Given the description of an element on the screen output the (x, y) to click on. 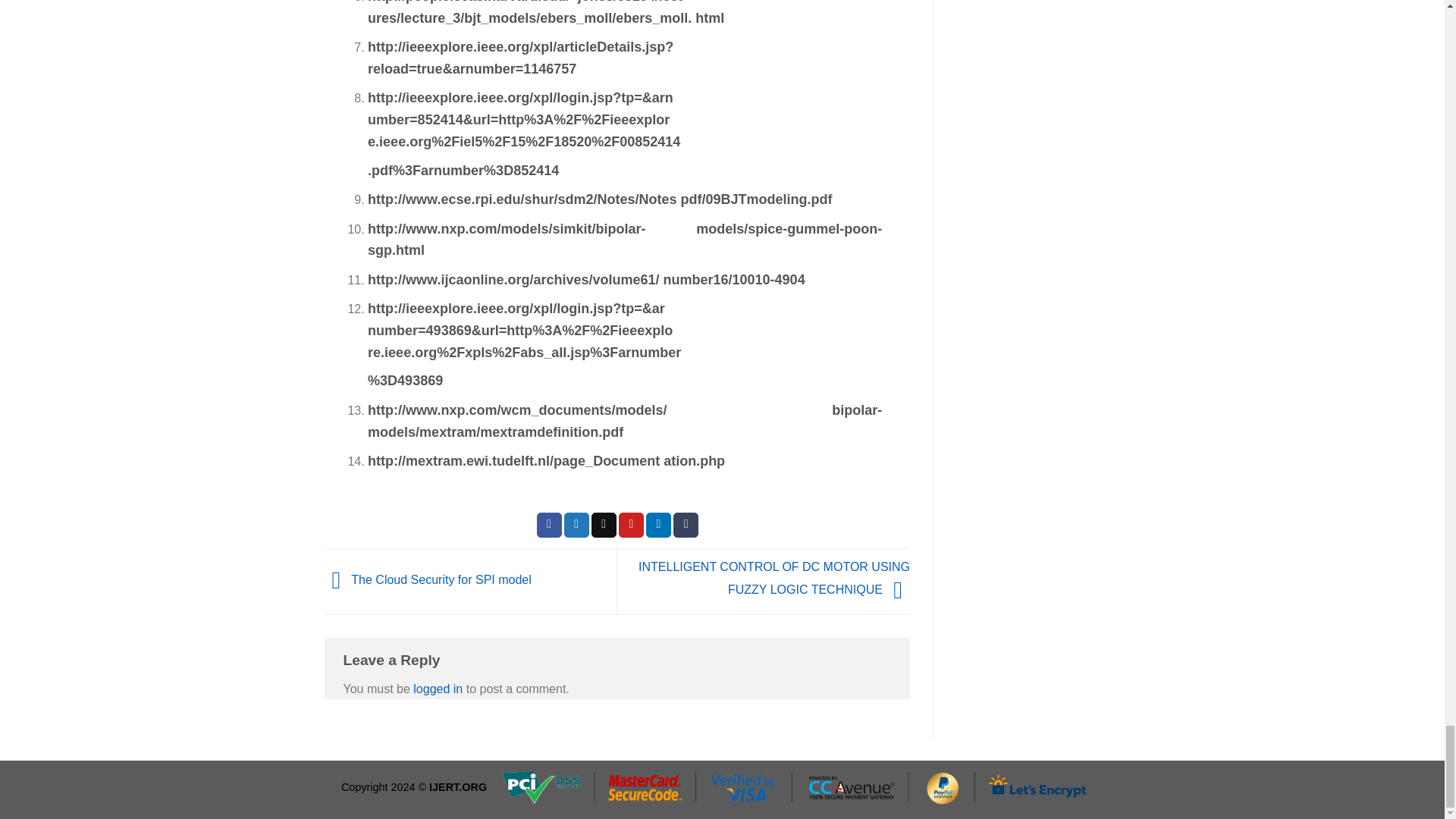
Share on Tumblr (685, 525)
Email to a Friend (603, 525)
Pin on Pinterest (630, 525)
Share on Twitter (576, 525)
Share on Facebook (549, 525)
Share on LinkedIn (658, 525)
